Given the description of an element on the screen output the (x, y) to click on. 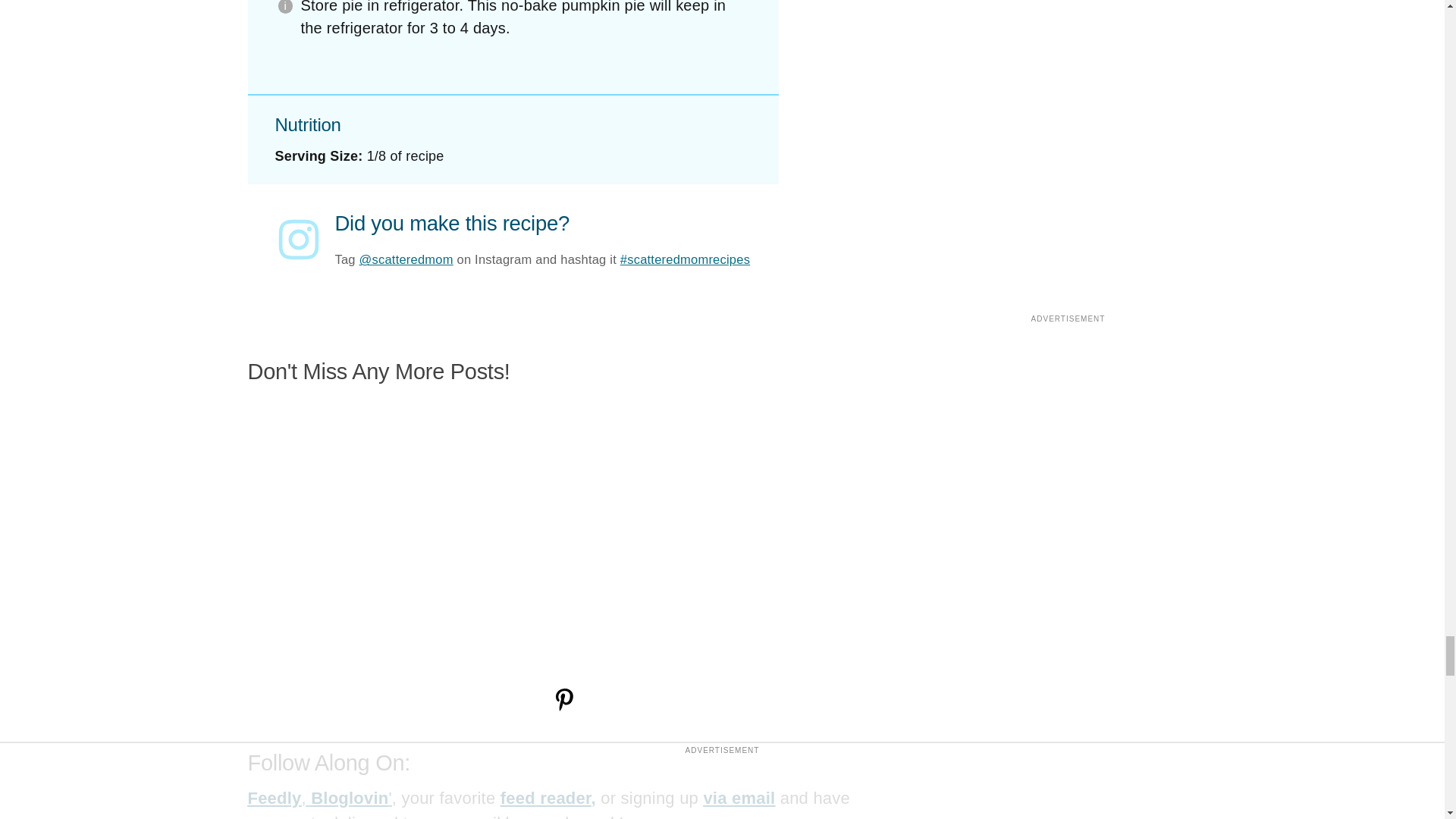
Pin It (563, 706)
